Given the description of an element on the screen output the (x, y) to click on. 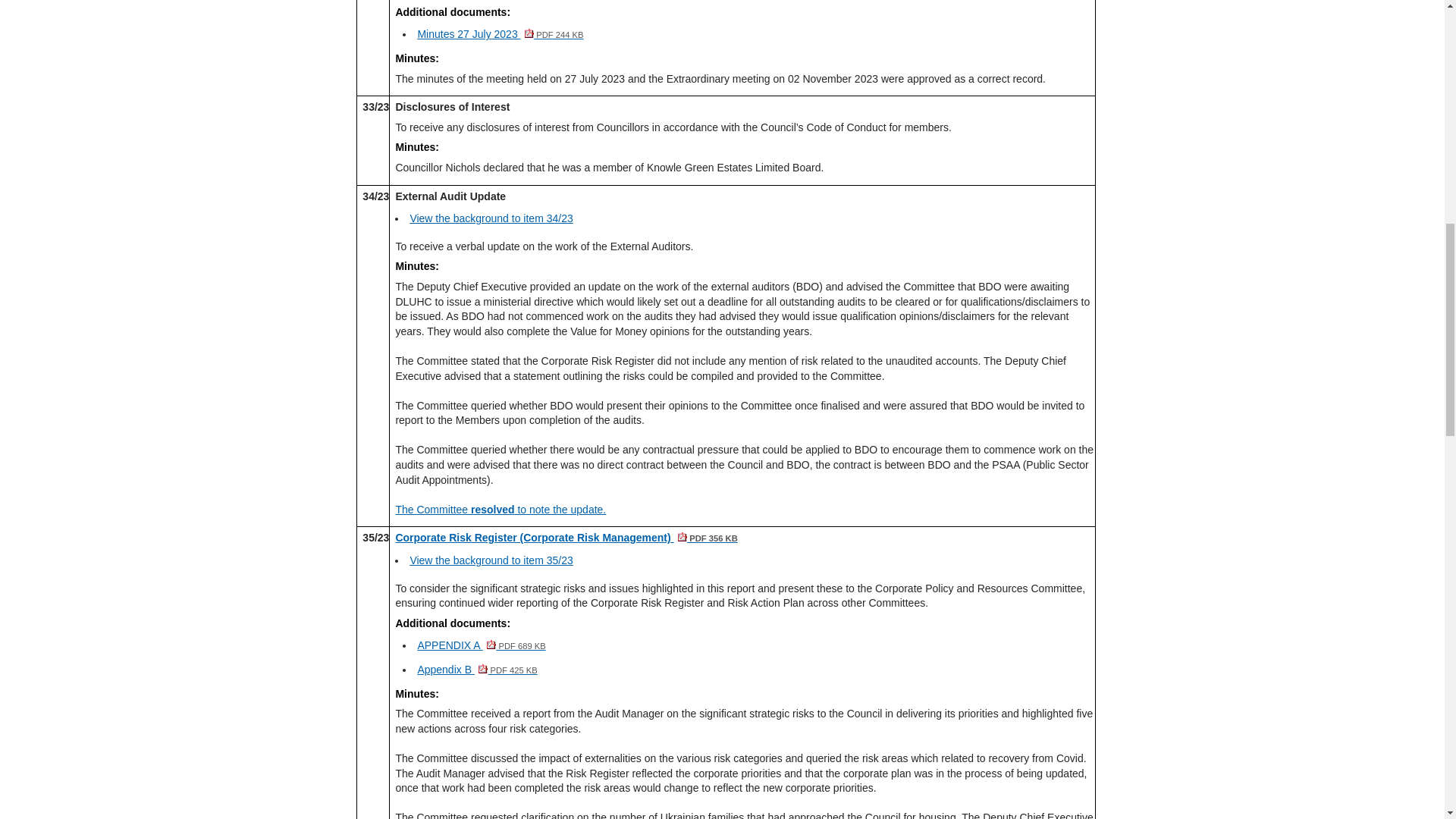
Link to document 'Minutes 27 July 2023' pdf file (499, 33)
Link to document 'Appendix B' pdf file (476, 669)
Link to document 'APPENDIX  A' pdf file (480, 645)
